Given the description of an element on the screen output the (x, y) to click on. 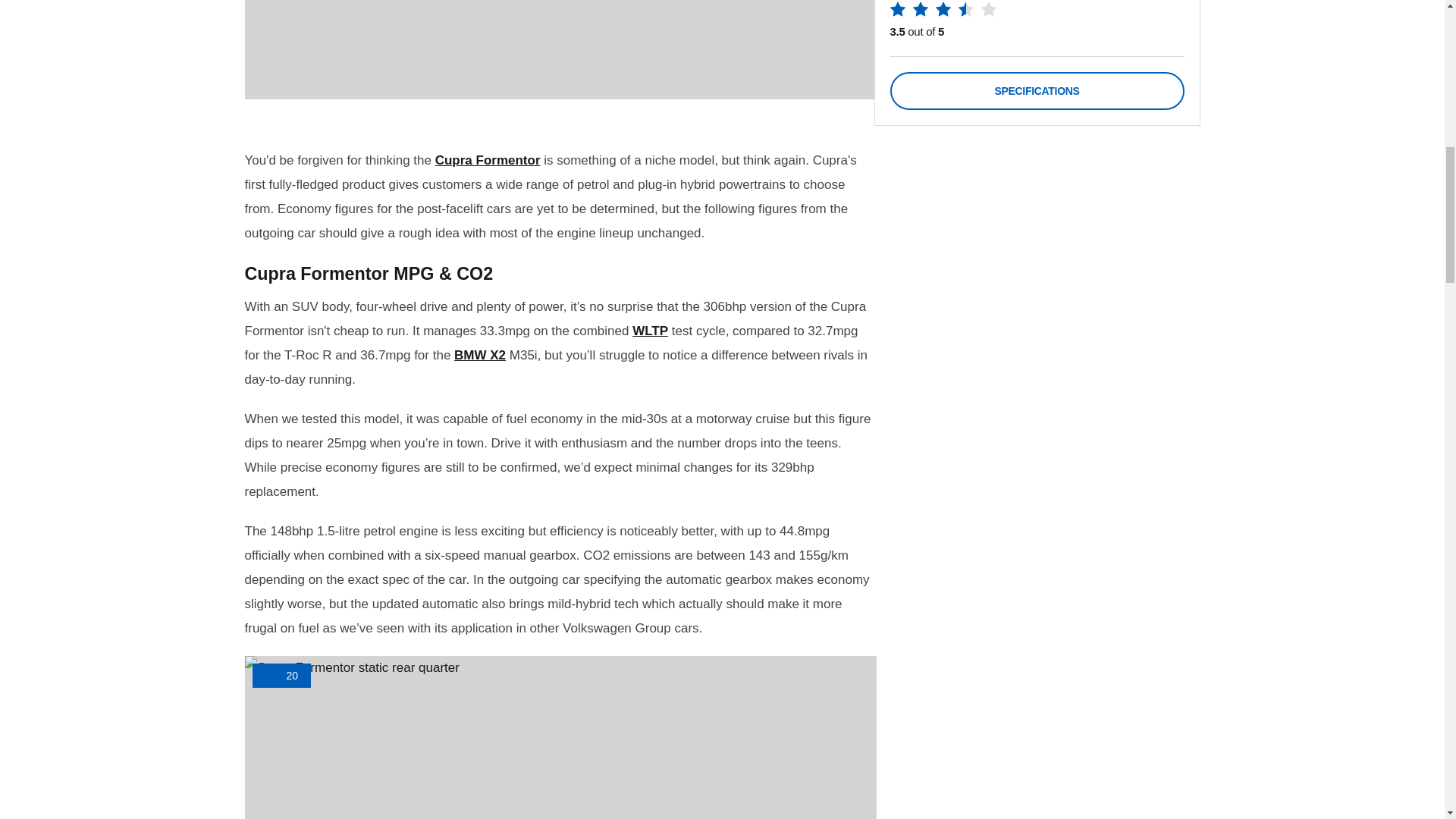
3.5 Stars (942, 11)
